Given the description of an element on the screen output the (x, y) to click on. 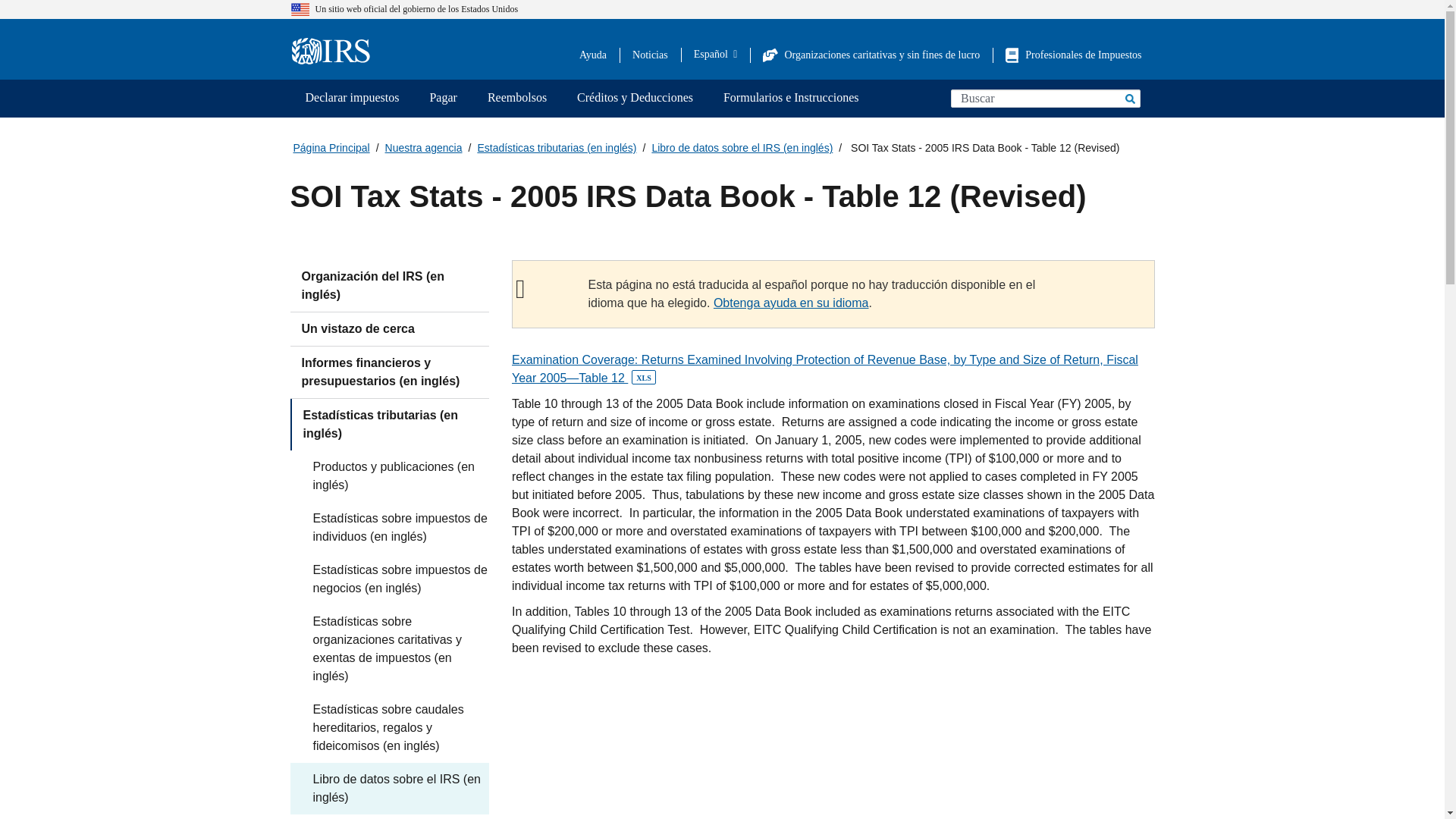
Noticias (649, 55)
Noticias (649, 55)
Organizaciones caritativas y sin fines de lucro (870, 55)
Declarar impuestos (351, 98)
Ayuda (593, 55)
Profesionales de Impuestos (1073, 55)
Buscar (1129, 98)
Ayuda (593, 55)
Pagar (442, 98)
